Given the description of an element on the screen output the (x, y) to click on. 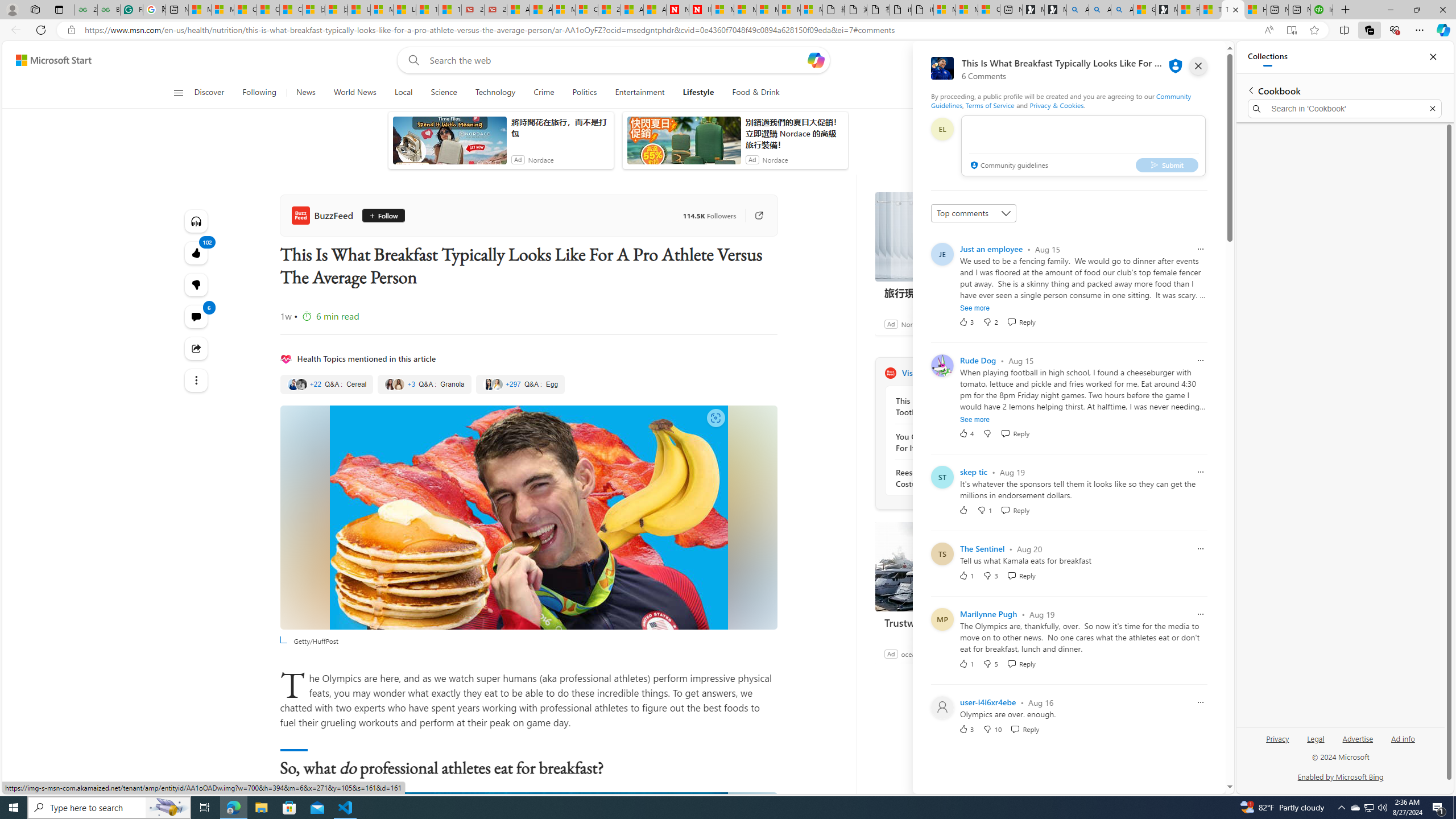
Share this story (196, 348)
Getty/HuffPost (528, 517)
Search in 'Cookbook' (1345, 108)
Class: at-item (196, 380)
Getty/HuffPost (528, 517)
Lifestyle - MSN (404, 9)
